Given the description of an element on the screen output the (x, y) to click on. 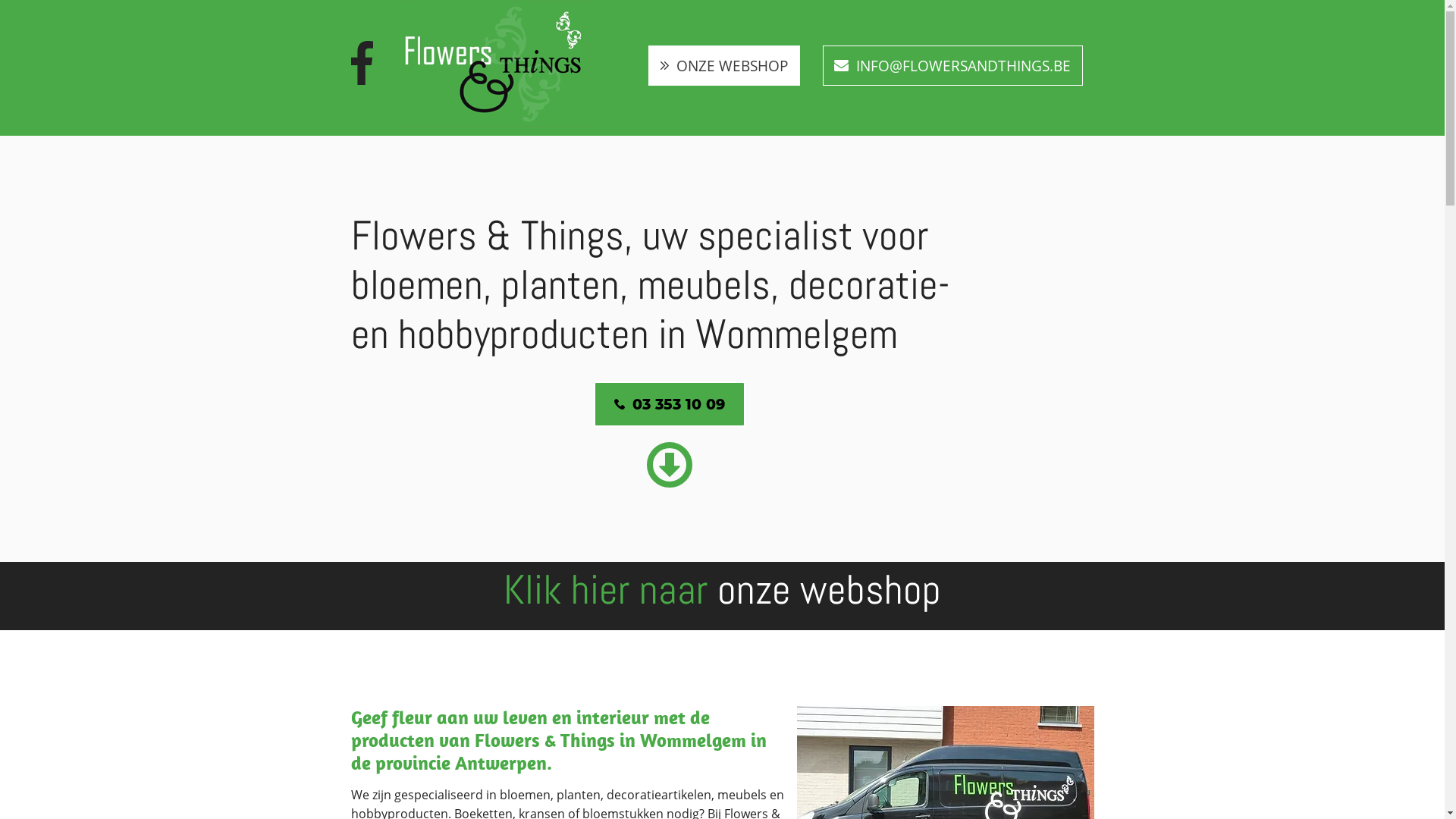
onze webshop Element type: text (829, 589)
03 353 10 09 Element type: text (668, 403)
ONZE WEBSHOP Element type: text (723, 65)
INFO@FLOWERSANDTHINGS.BE Element type: text (952, 65)
